Given the description of an element on the screen output the (x, y) to click on. 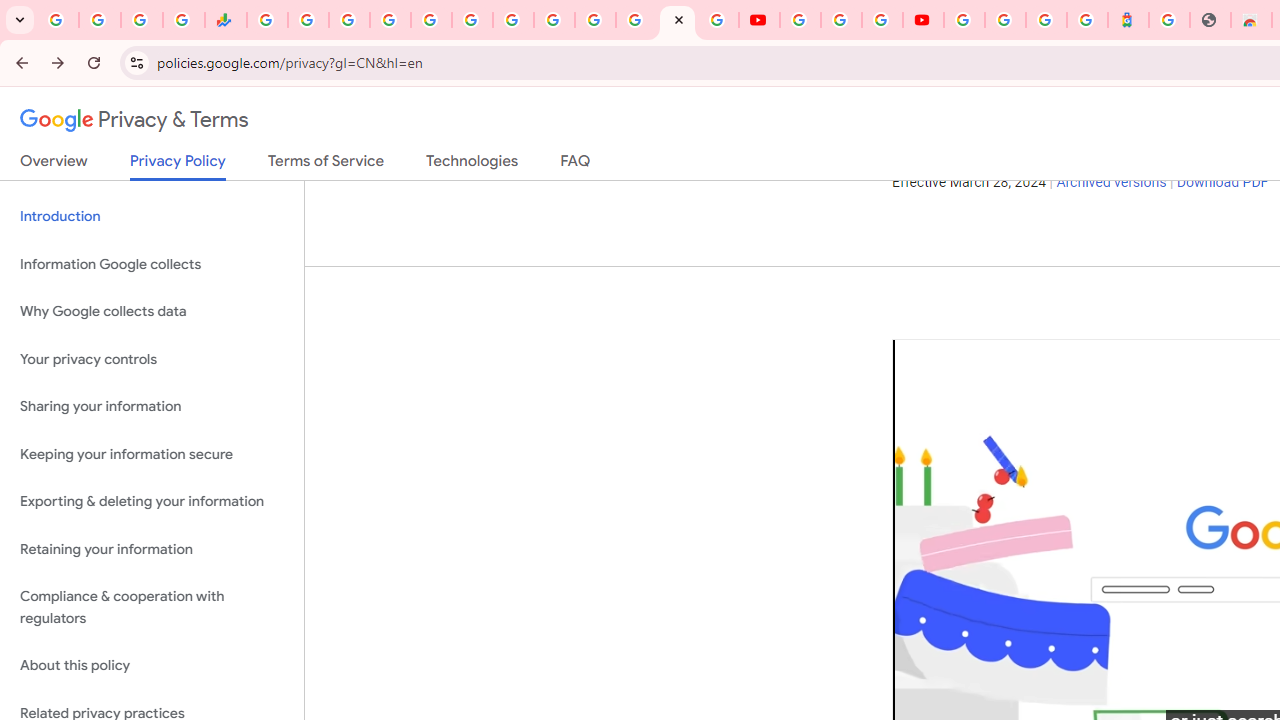
Privacy Checkup (717, 20)
Your privacy controls (152, 358)
Create your Google Account (881, 20)
Google Workspace Admin Community (58, 20)
About this policy (152, 666)
Android TV Policies and Guidelines - Transparency Center (512, 20)
Take the Privacy Checkup (1053, 111)
Sign in - Google Accounts (964, 20)
